Given the description of an element on the screen output the (x, y) to click on. 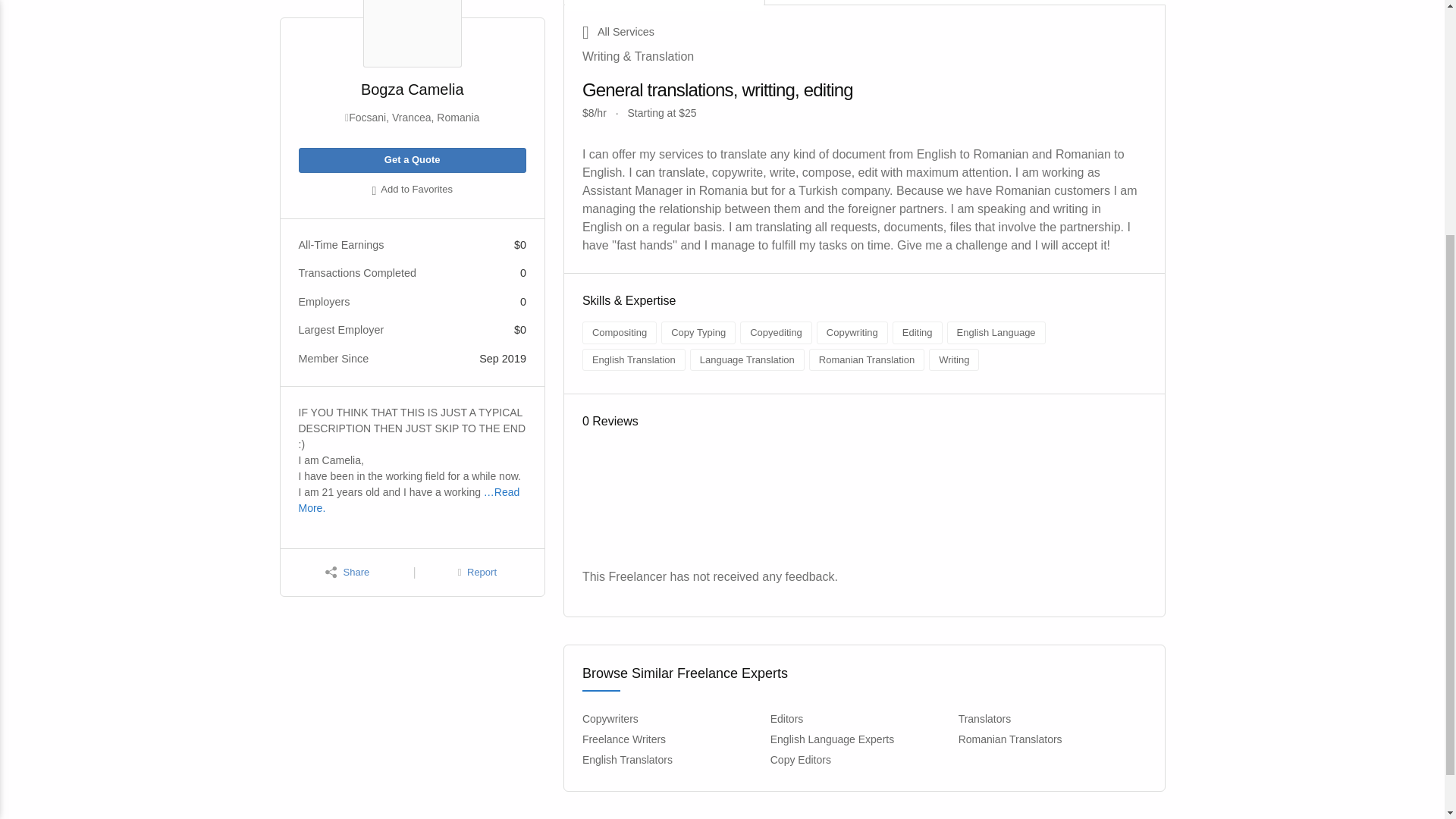
Add to Favorites (411, 190)
Get a Quote (411, 160)
Share (347, 572)
Overview (664, 2)
Report (477, 572)
